Given the description of an element on the screen output the (x, y) to click on. 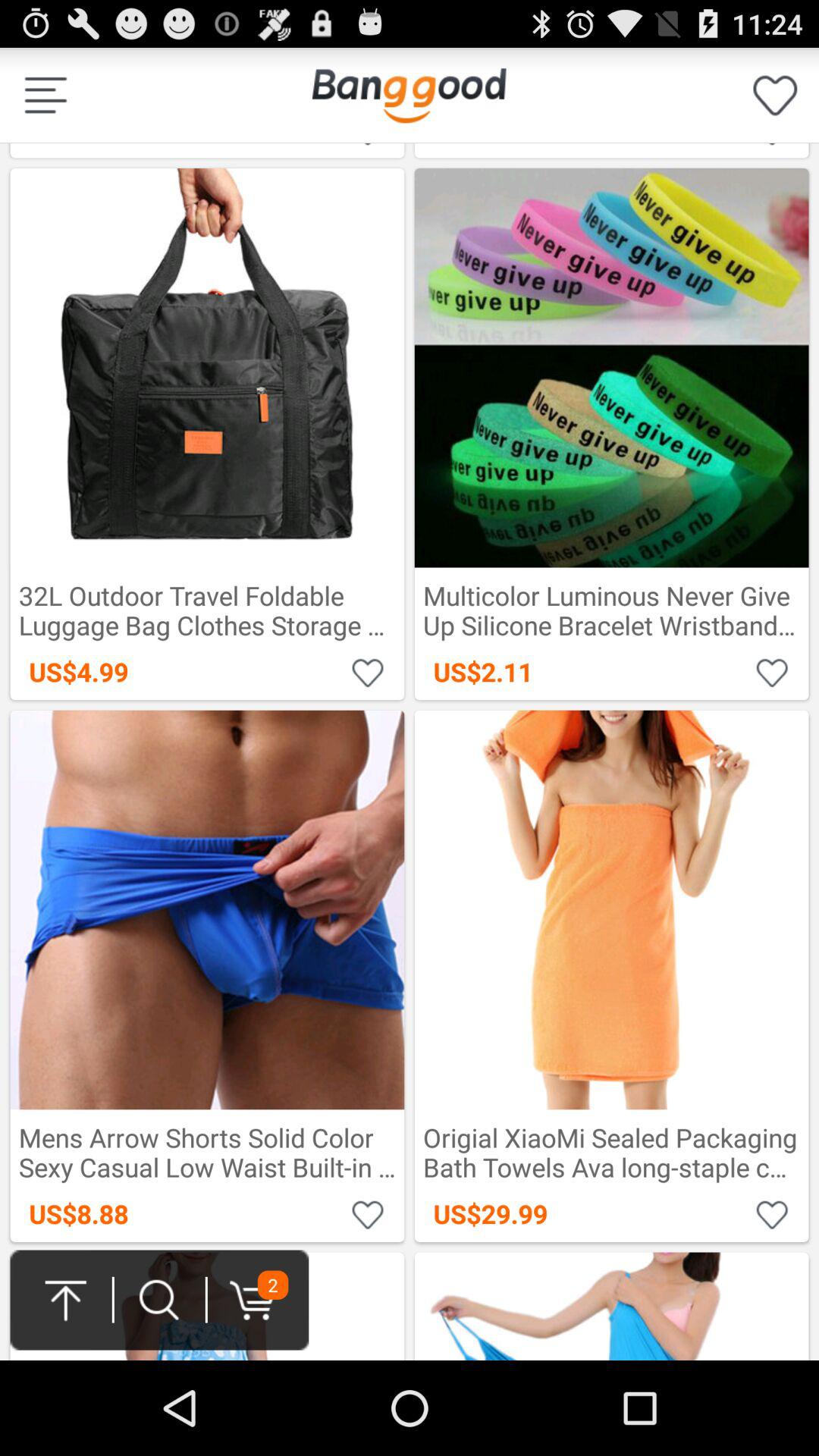
select the item to the right of us$3.09 (409, 95)
